Given the description of an element on the screen output the (x, y) to click on. 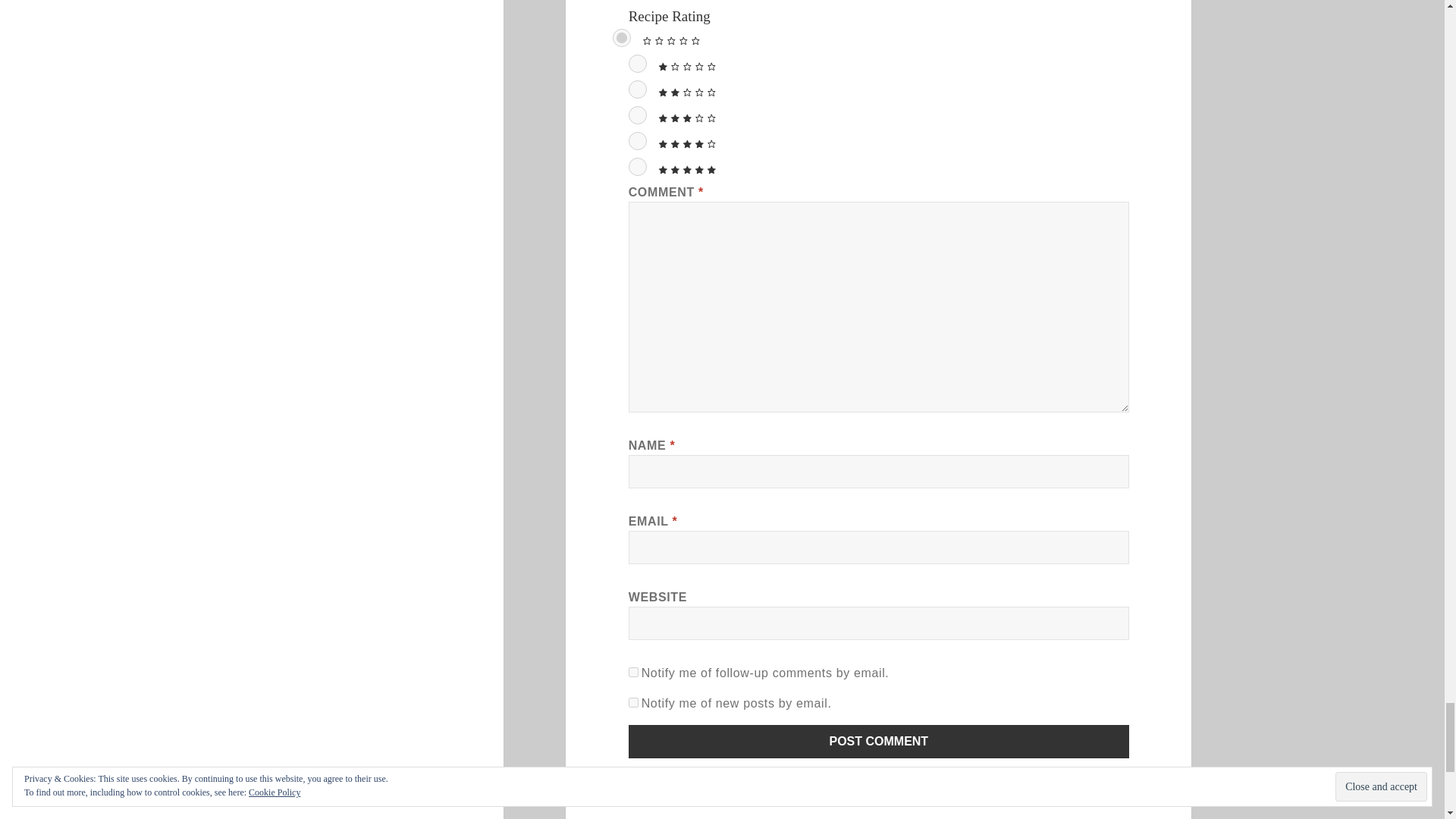
3 (637, 115)
4 (637, 140)
1 (637, 63)
Post Comment (878, 741)
5 (637, 167)
0 (621, 37)
2 (637, 89)
subscribe (633, 672)
subscribe (633, 702)
